Given the description of an element on the screen output the (x, y) to click on. 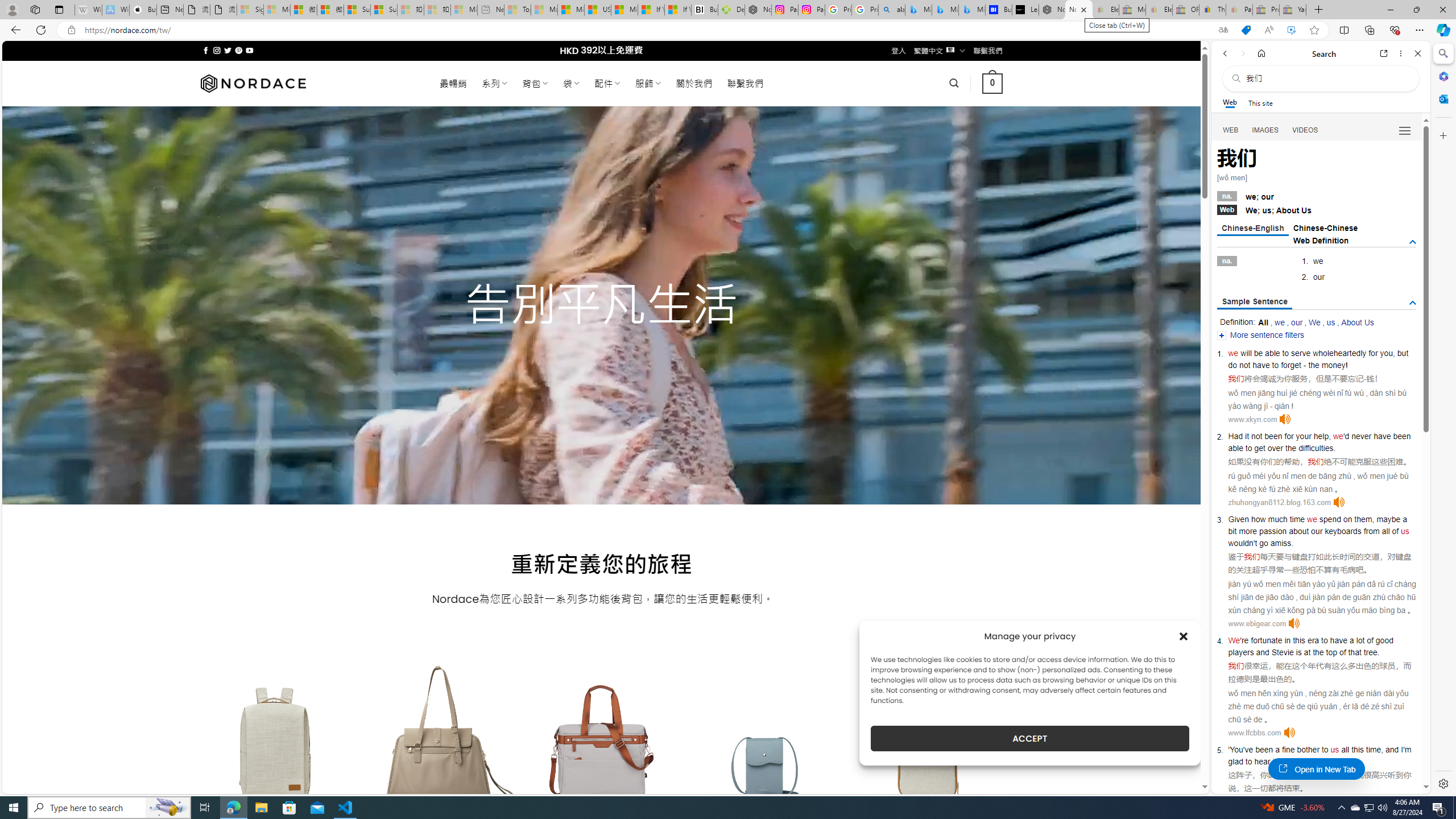
in (1287, 640)
Microsoft account | Account Checkup - Sleeping (463, 9)
alabama high school quarterback dies - Search (891, 9)
we (1312, 519)
hear (1262, 760)
I (1401, 749)
Follow on YouTube (249, 50)
